Given the description of an element on the screen output the (x, y) to click on. 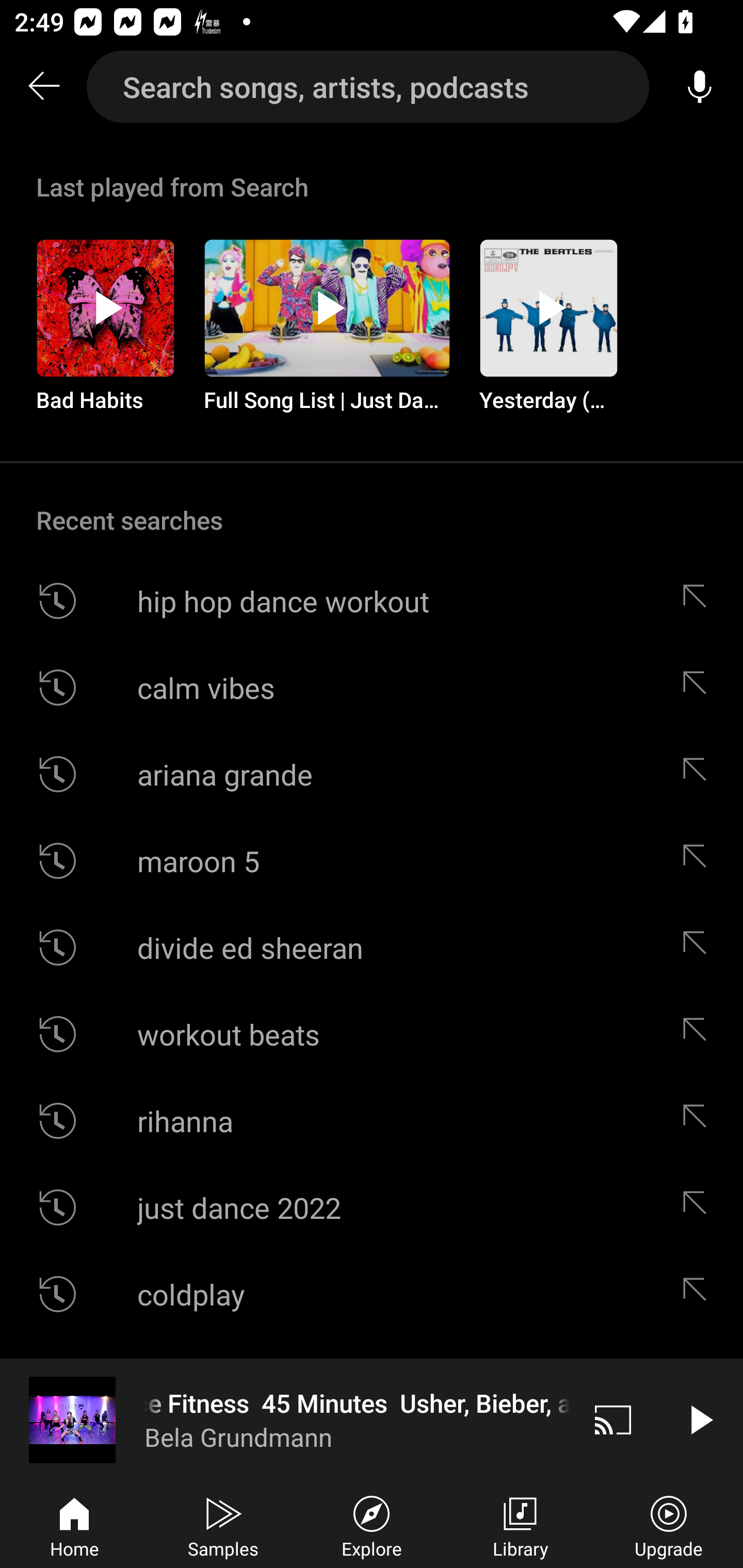
Search back (43, 86)
Search songs, artists, podcasts (367, 86)
Voice search (699, 86)
Edit suggestion hip hop dance workout (699, 601)
calm vibes Edit suggestion calm vibes (371, 687)
Edit suggestion calm vibes (699, 687)
ariana grande Edit suggestion ariana grande (371, 773)
Edit suggestion ariana grande (699, 773)
maroon 5 Edit suggestion maroon 5 (371, 860)
Edit suggestion maroon 5 (699, 860)
Edit suggestion divide ed sheeran (699, 947)
workout beats Edit suggestion workout beats (371, 1033)
Edit suggestion workout beats (699, 1033)
rihanna Edit suggestion rihanna (371, 1120)
Edit suggestion rihanna (699, 1120)
just dance 2022 Edit suggestion just dance 2022 (371, 1207)
Edit suggestion just dance 2022 (699, 1207)
coldplay Edit suggestion coldplay (371, 1294)
Edit suggestion coldplay (699, 1294)
Cast. Disconnected (612, 1419)
Play video (699, 1419)
Home (74, 1524)
Samples (222, 1524)
Explore (371, 1524)
Library (519, 1524)
Upgrade (668, 1524)
